Given the description of an element on the screen output the (x, y) to click on. 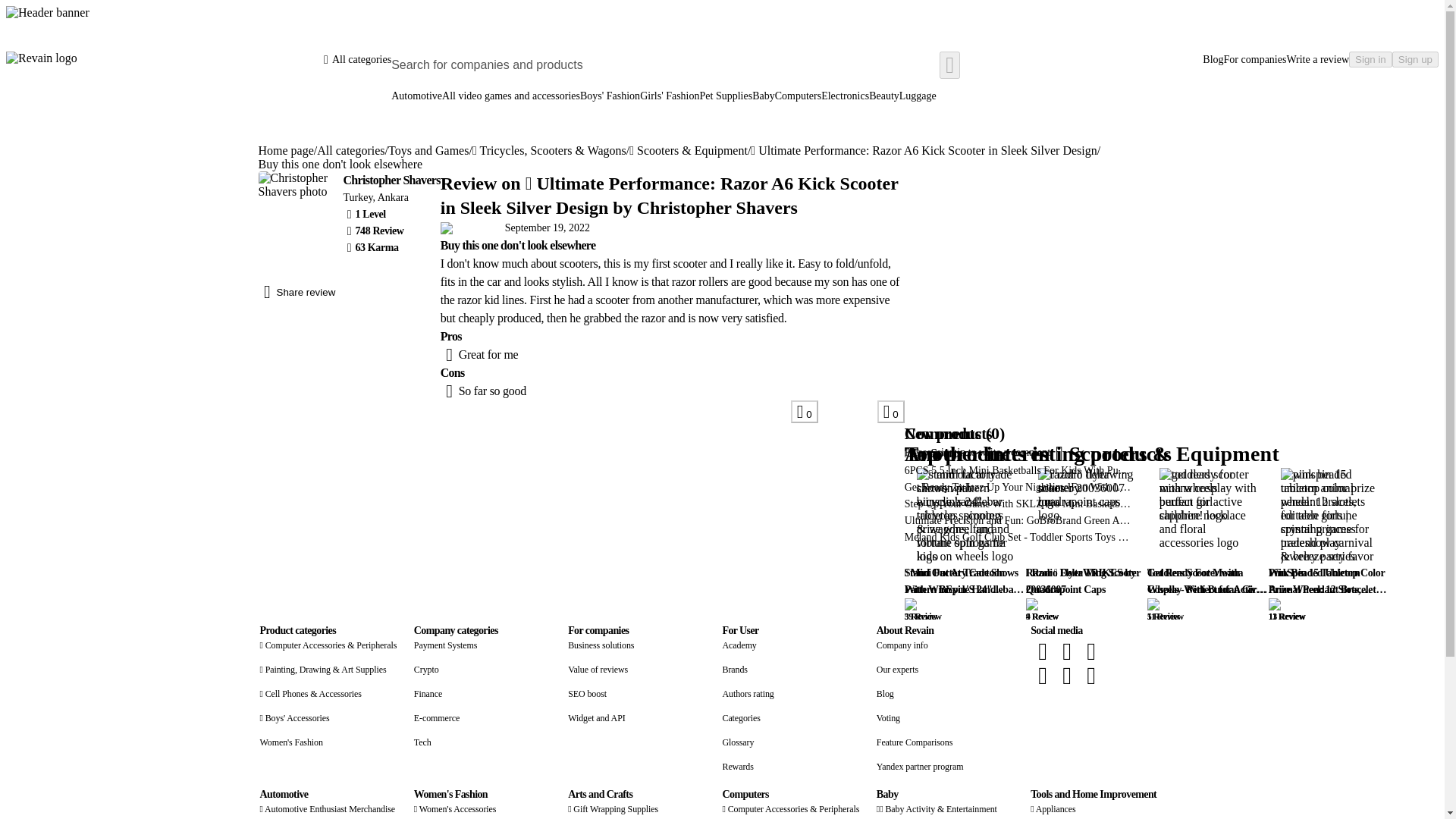
Revain Pinterest (1090, 675)
For companies (1255, 59)
Electronics (845, 102)
Home Page (41, 58)
Revain Telegram channel (1042, 675)
Home page (285, 151)
Please, sign in to perform this action (890, 411)
All categories (350, 151)
Sign in (1370, 59)
Revain Facebook (1042, 651)
Revain Instagram (1066, 675)
Revain Telegram group (1090, 651)
All categories (355, 59)
